Given the description of an element on the screen output the (x, y) to click on. 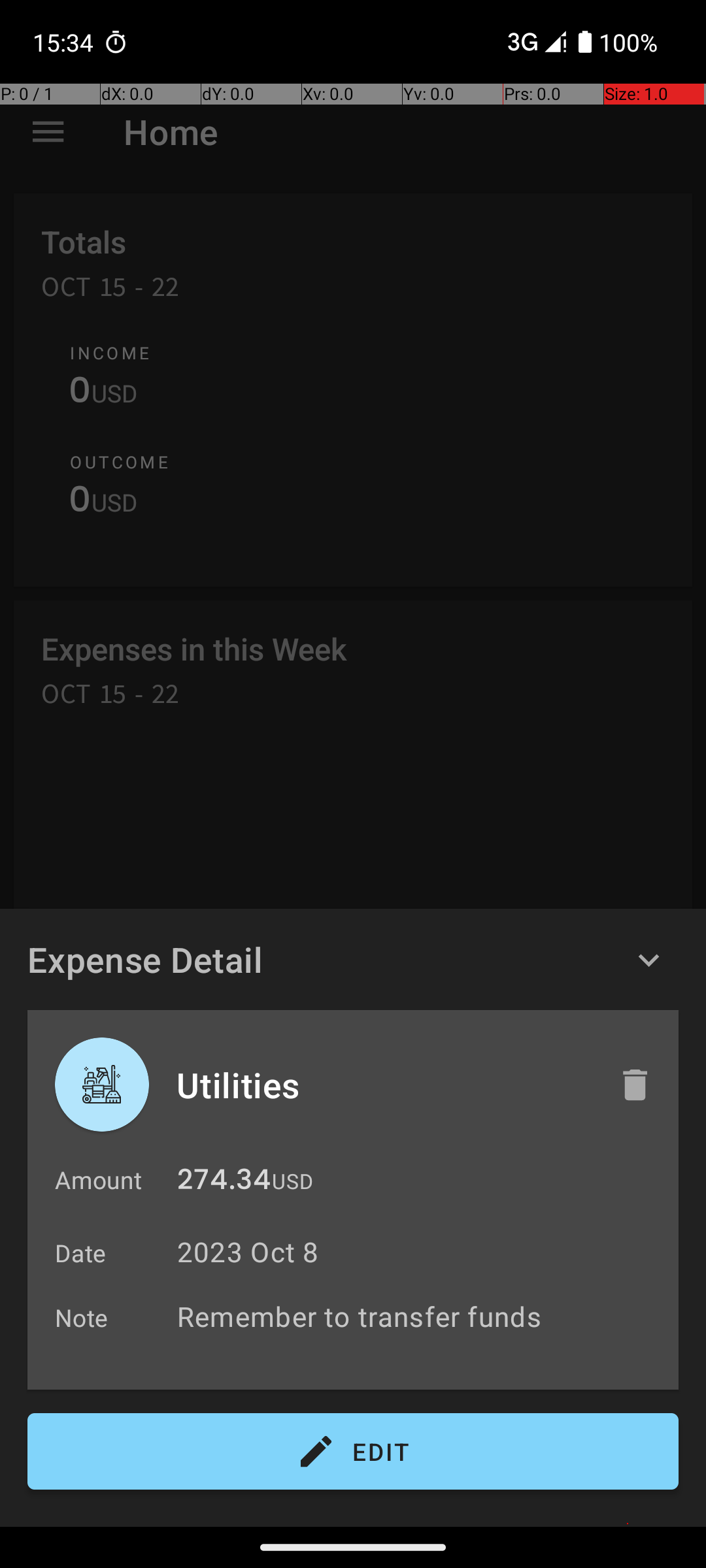
Utilities Element type: android.widget.TextView (383, 1084)
274.34 Element type: android.widget.TextView (223, 1182)
